Given the description of an element on the screen output the (x, y) to click on. 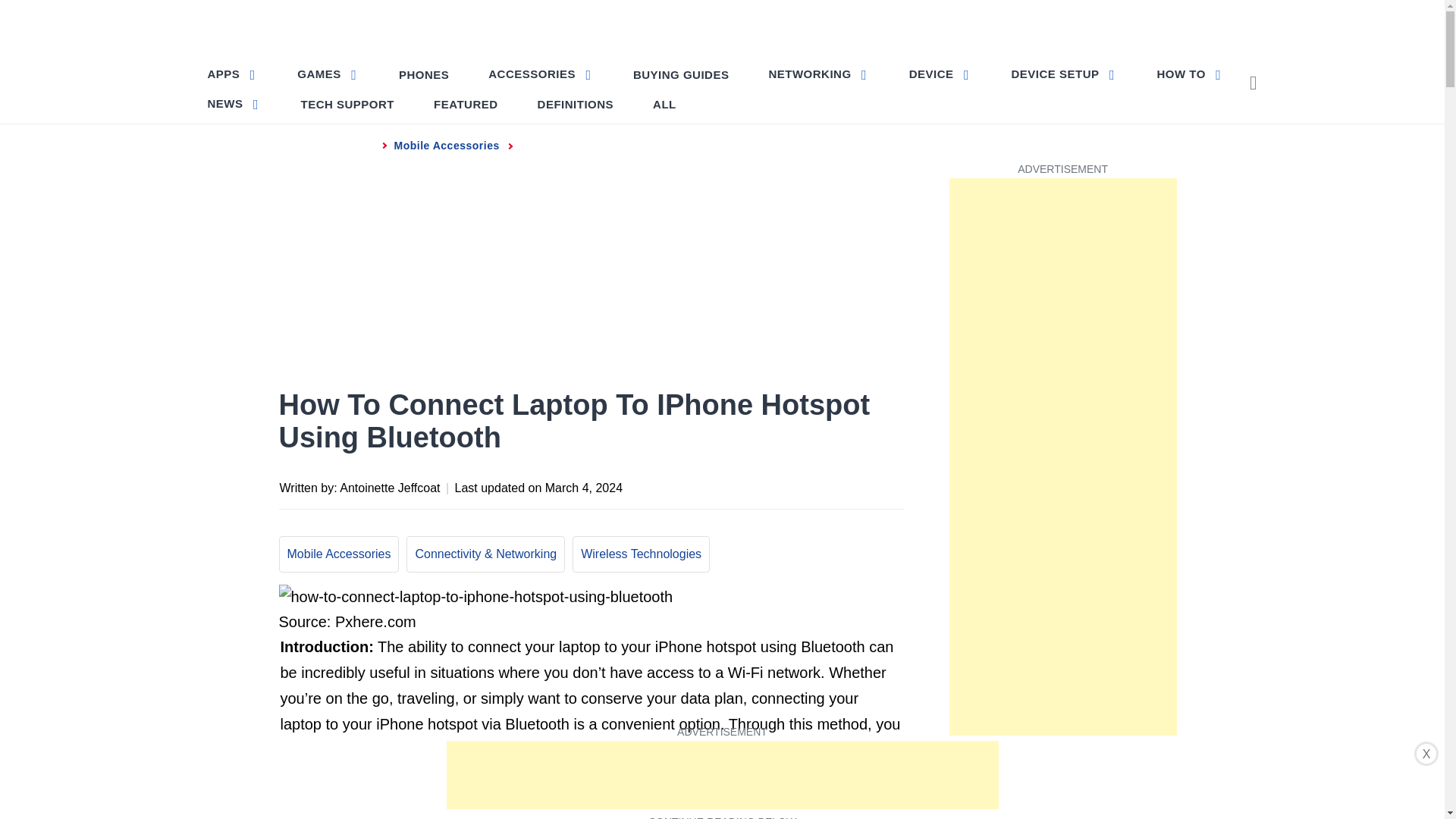
NETWORKING (818, 73)
DEVICE (940, 73)
Share on facebook (740, 486)
Copy to Clipboard (860, 486)
Mail the Link (890, 486)
ACCESSORIES (540, 73)
Share on twitter (769, 486)
PHONES (424, 74)
Share on Whatsapp (829, 486)
APPS (233, 73)
Share on Pinterest (800, 486)
GAMES (327, 73)
BUYING GUIDES (681, 74)
